Given the description of an element on the screen output the (x, y) to click on. 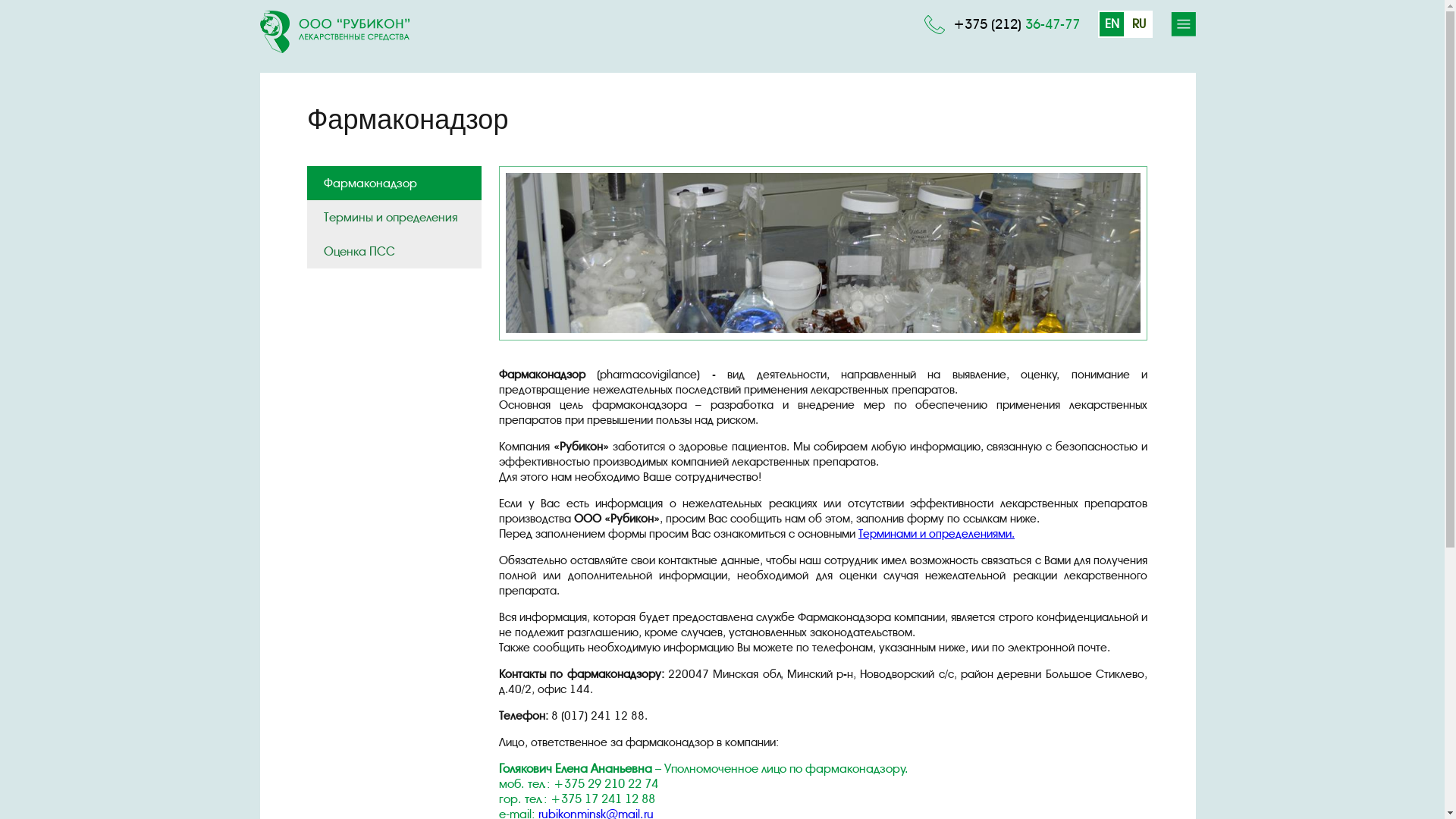
RU Element type: text (1138, 24)
EN Element type: text (1111, 24)
